Given the description of an element on the screen output the (x, y) to click on. 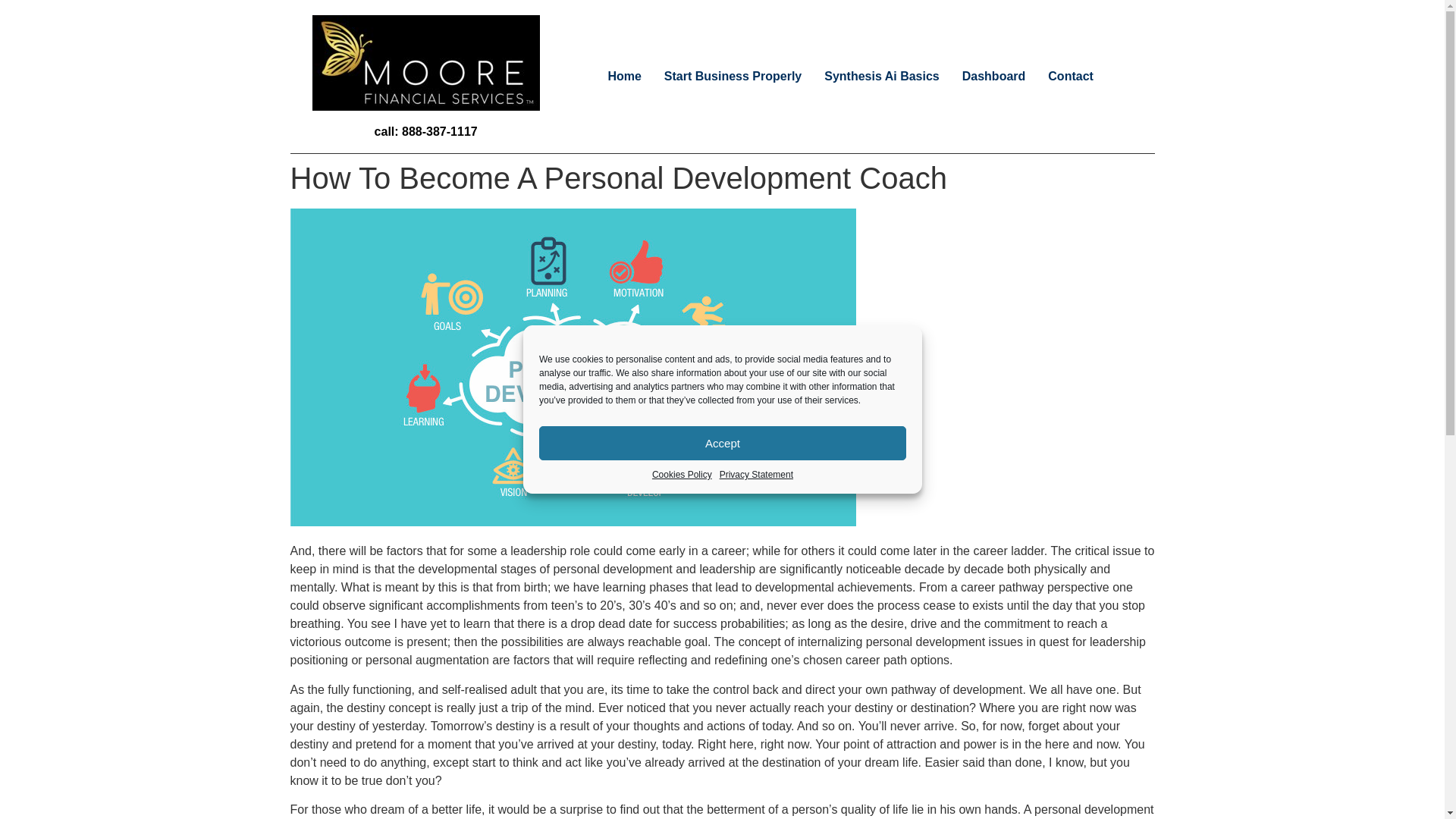
Privacy Statement (755, 474)
Accept (721, 442)
call: 888-387-1117 (425, 131)
Cookies Policy (680, 474)
Contact (1070, 76)
Synthesis Ai Basics (881, 76)
Home (623, 76)
Start Business Properly (732, 76)
Dashboard (993, 76)
